Given the description of an element on the screen output the (x, y) to click on. 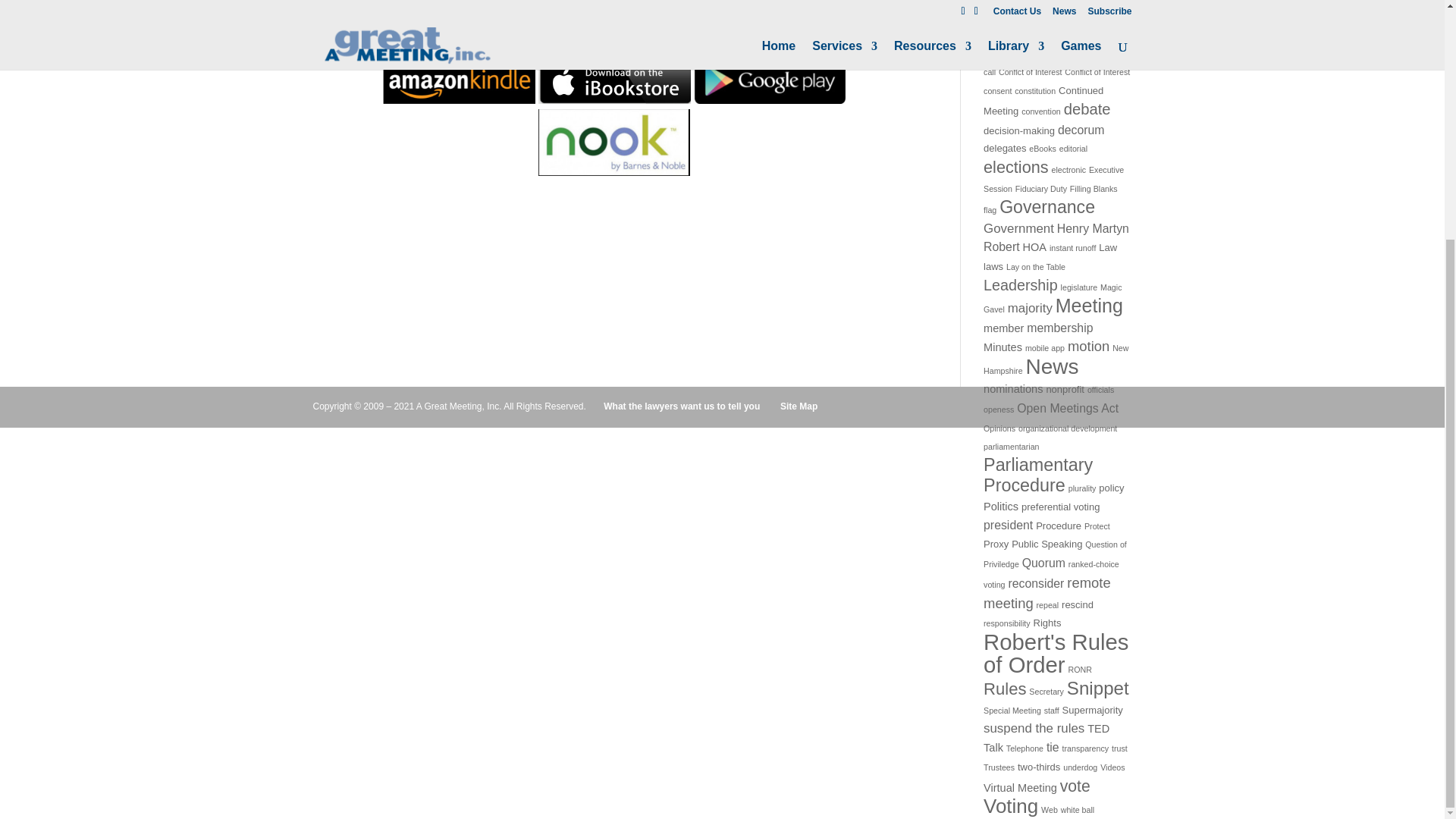
bylaws (1100, 1)
Board of Directors (1034, 1)
